Given the description of an element on the screen output the (x, y) to click on. 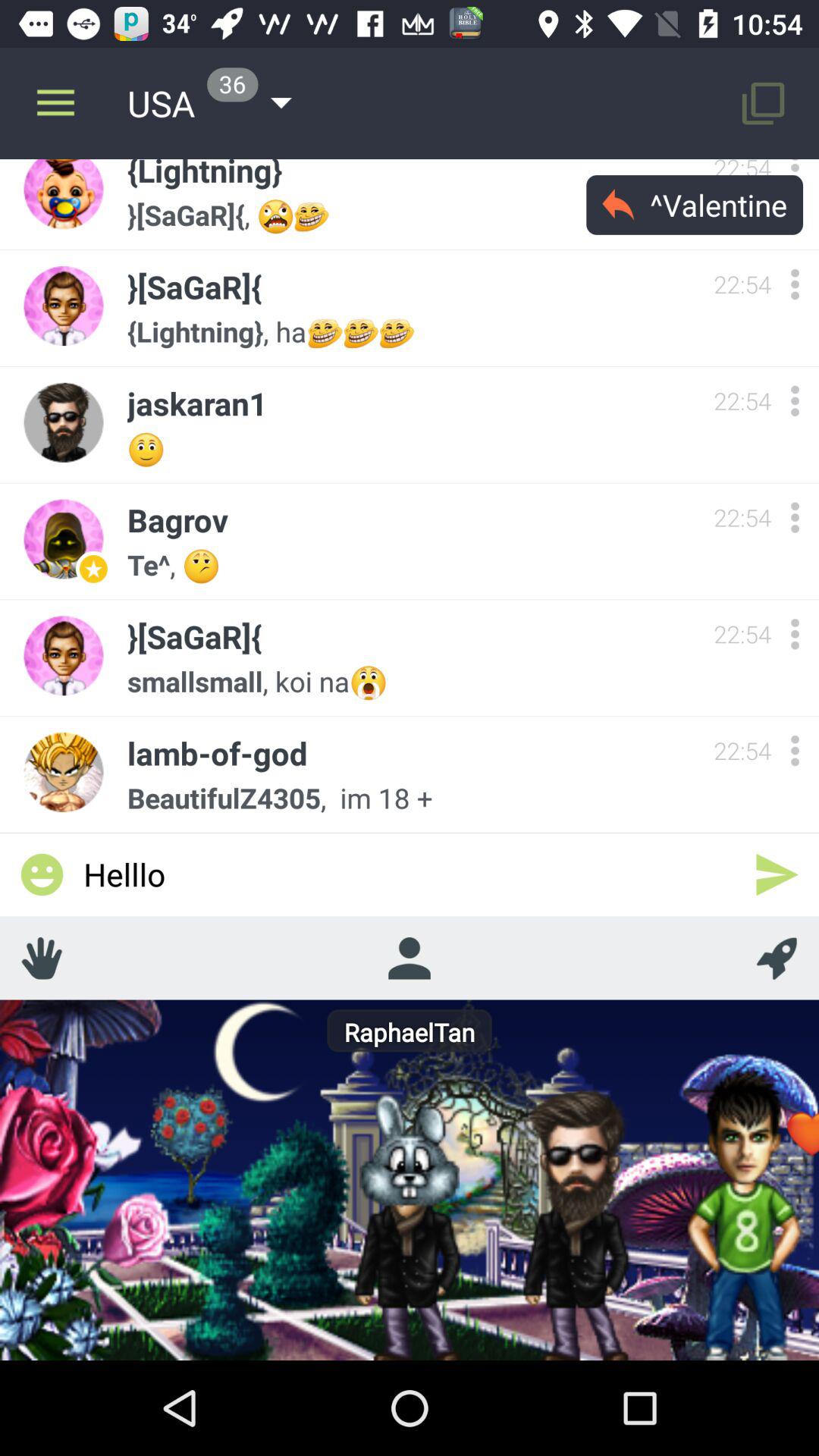
click icon to the left of helllo item (41, 874)
